Given the description of an element on the screen output the (x, y) to click on. 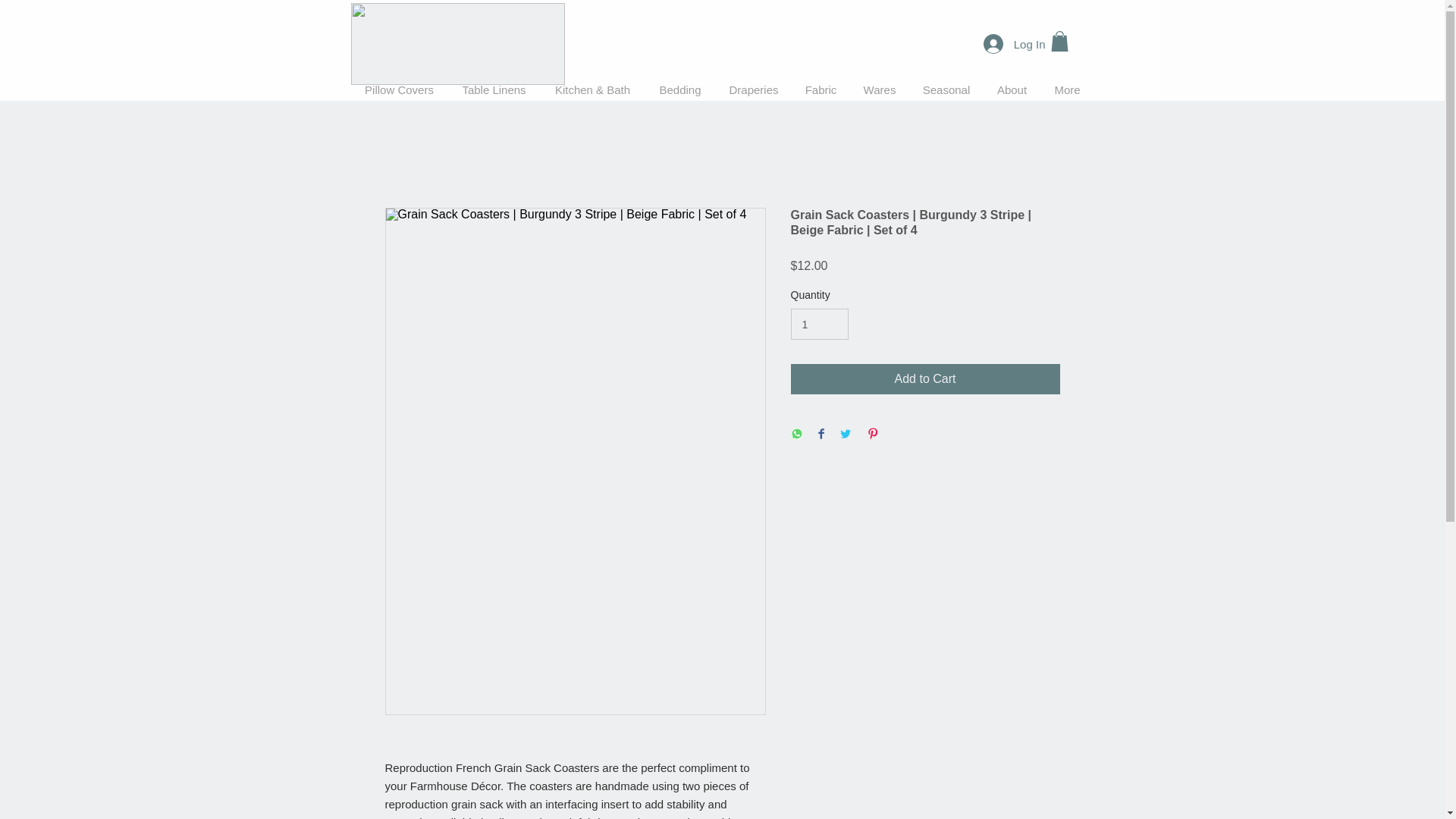
Log In (1014, 43)
1 (818, 323)
Bedding (679, 89)
About (1011, 89)
Wares (878, 89)
Add to Cart (924, 378)
sweet.jpg (457, 44)
Draperies (754, 89)
